Given the description of an element on the screen output the (x, y) to click on. 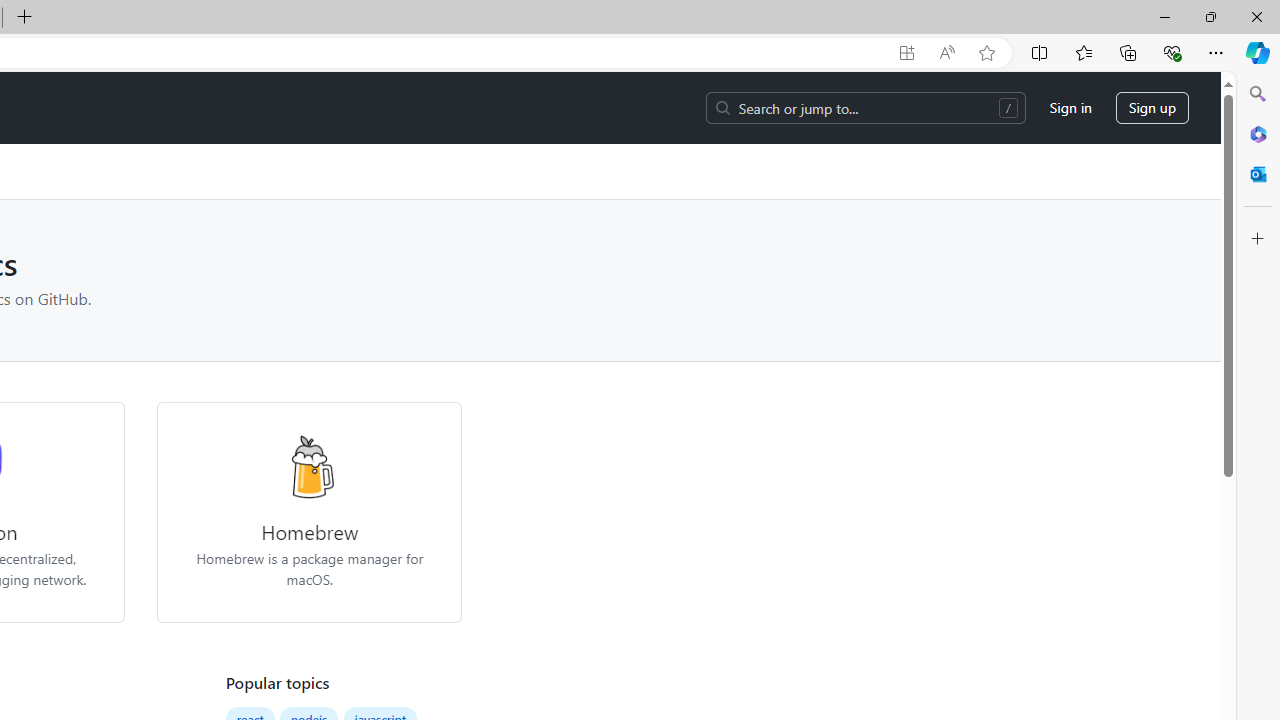
Microsoft 365 (1258, 133)
Sign up (1152, 107)
Close Outlook pane (1258, 174)
HomebrewHomebrew is a package manager for macOS. (309, 511)
Customize (1258, 239)
homebrew (308, 466)
